Given the description of an element on the screen output the (x, y) to click on. 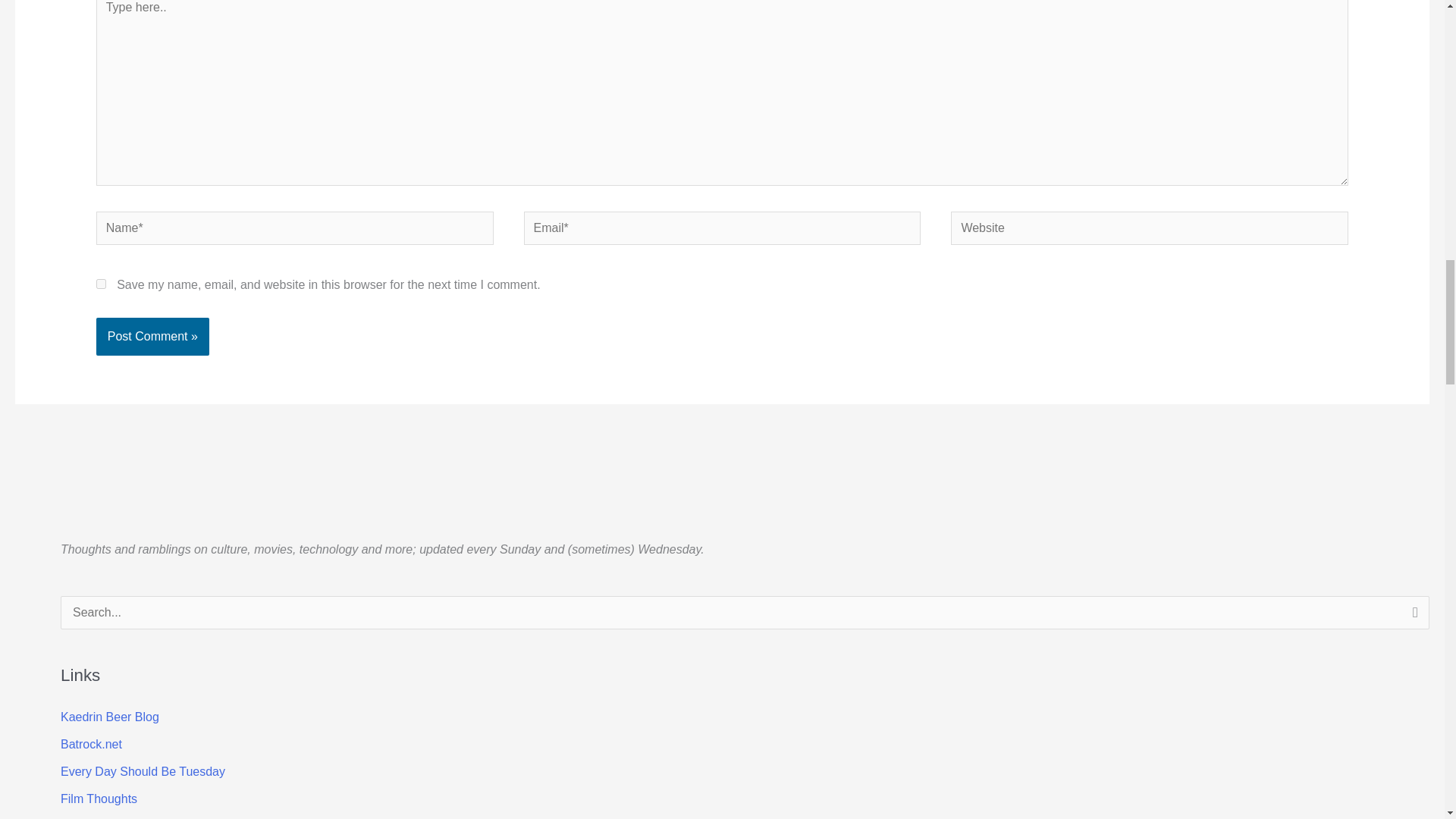
Every Day Should Be Tuesday (143, 771)
yes (101, 284)
Kaedrin Beer Blog (109, 716)
Film Thoughts (98, 798)
Batrock.net (91, 744)
